Given the description of an element on the screen output the (x, y) to click on. 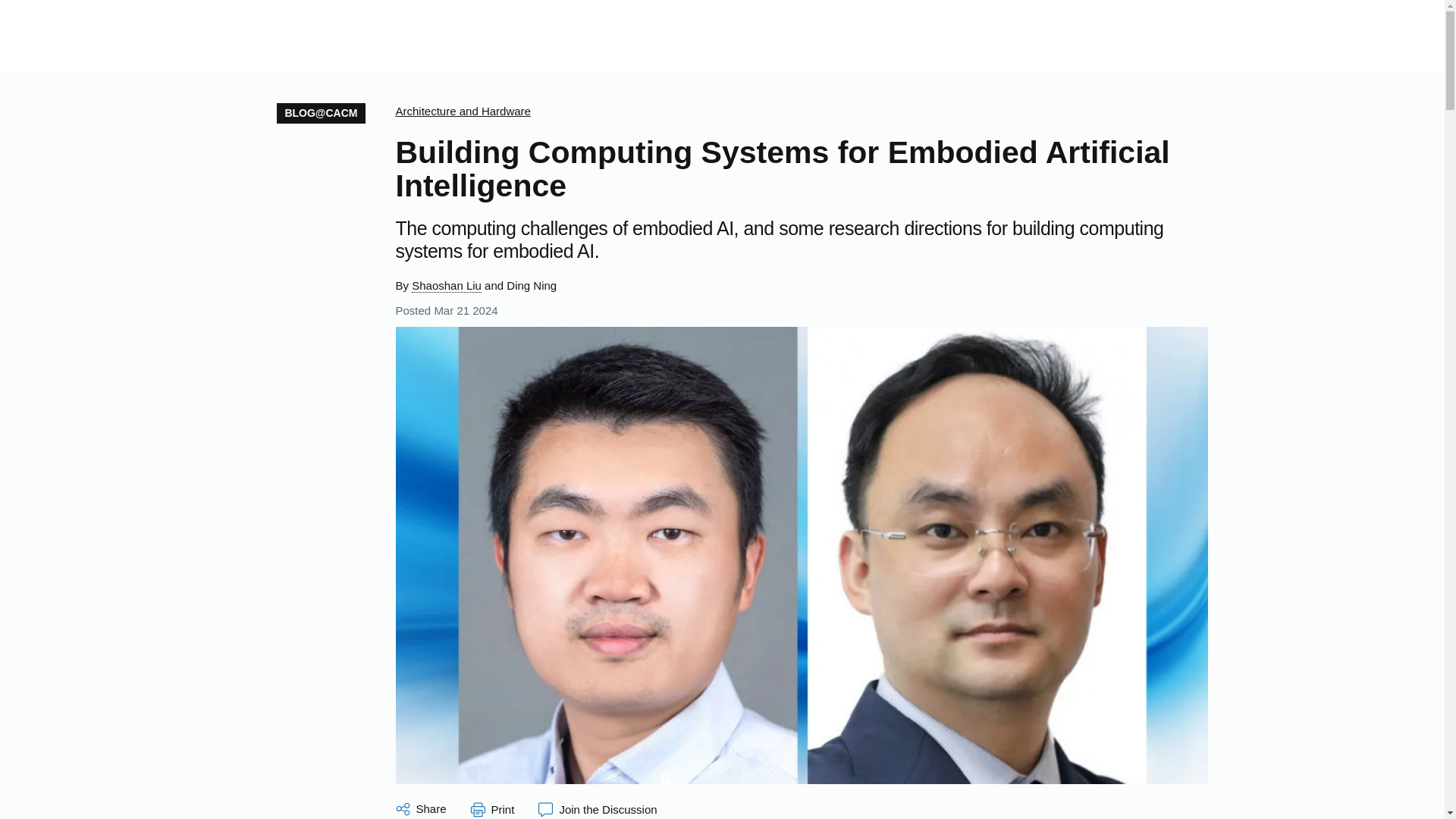
Posts by Shaoshan Liu (446, 285)
